Given the description of an element on the screen output the (x, y) to click on. 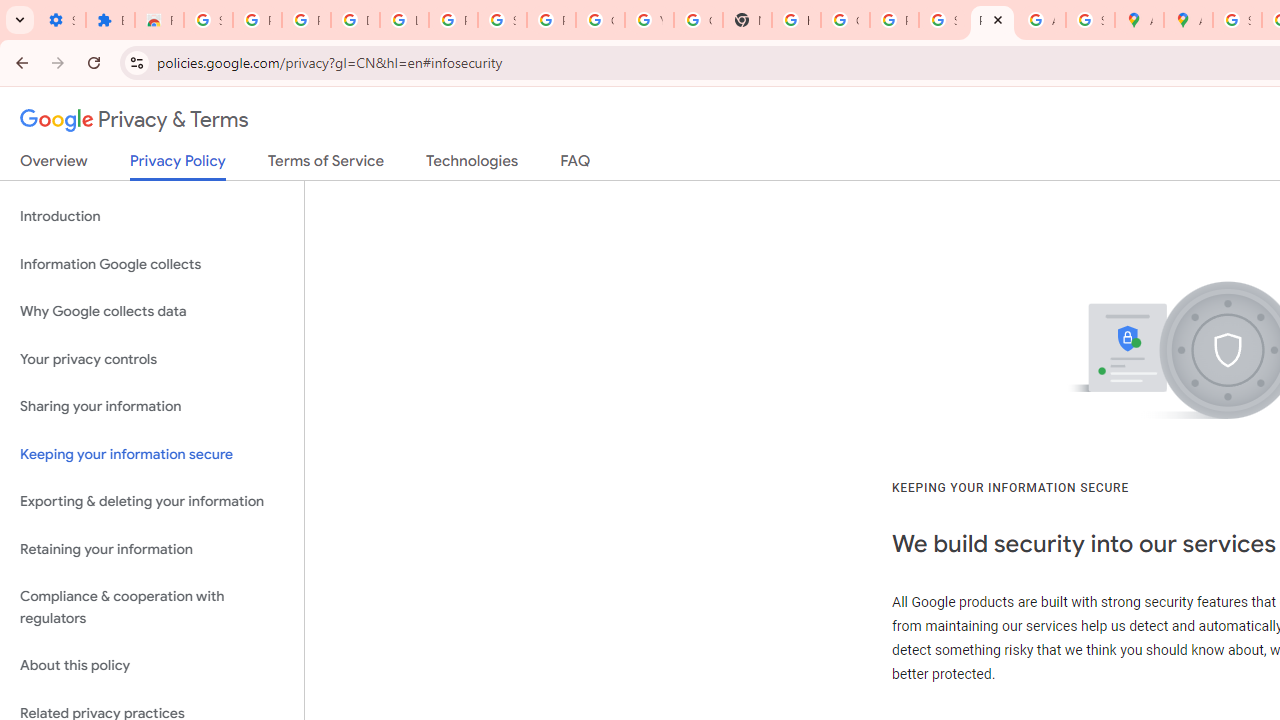
Sign in - Google Accounts (208, 20)
Google Account (600, 20)
Reviews: Helix Fruit Jump Arcade Game (159, 20)
Compliance & cooperation with regulators (152, 607)
Keeping your information secure (152, 453)
Learn how to find your photos - Google Photos Help (404, 20)
Why Google collects data (152, 312)
